Given the description of an element on the screen output the (x, y) to click on. 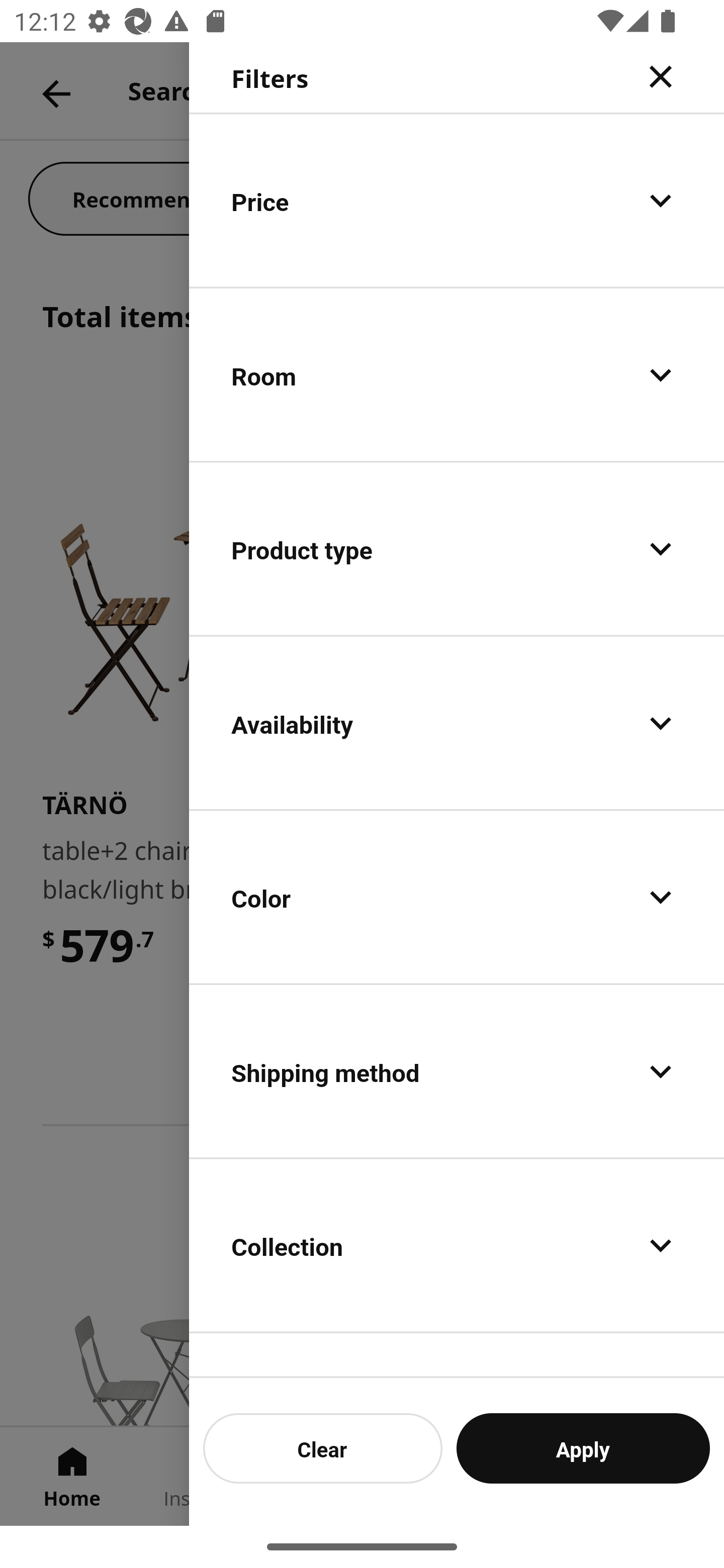
Price (456, 200)
Room (456, 374)
Product type (456, 548)
Availability (456, 722)
Color (456, 896)
Shipping method (456, 1070)
Collection (456, 1244)
Clear (322, 1447)
Apply (583, 1447)
